Given the description of an element on the screen output the (x, y) to click on. 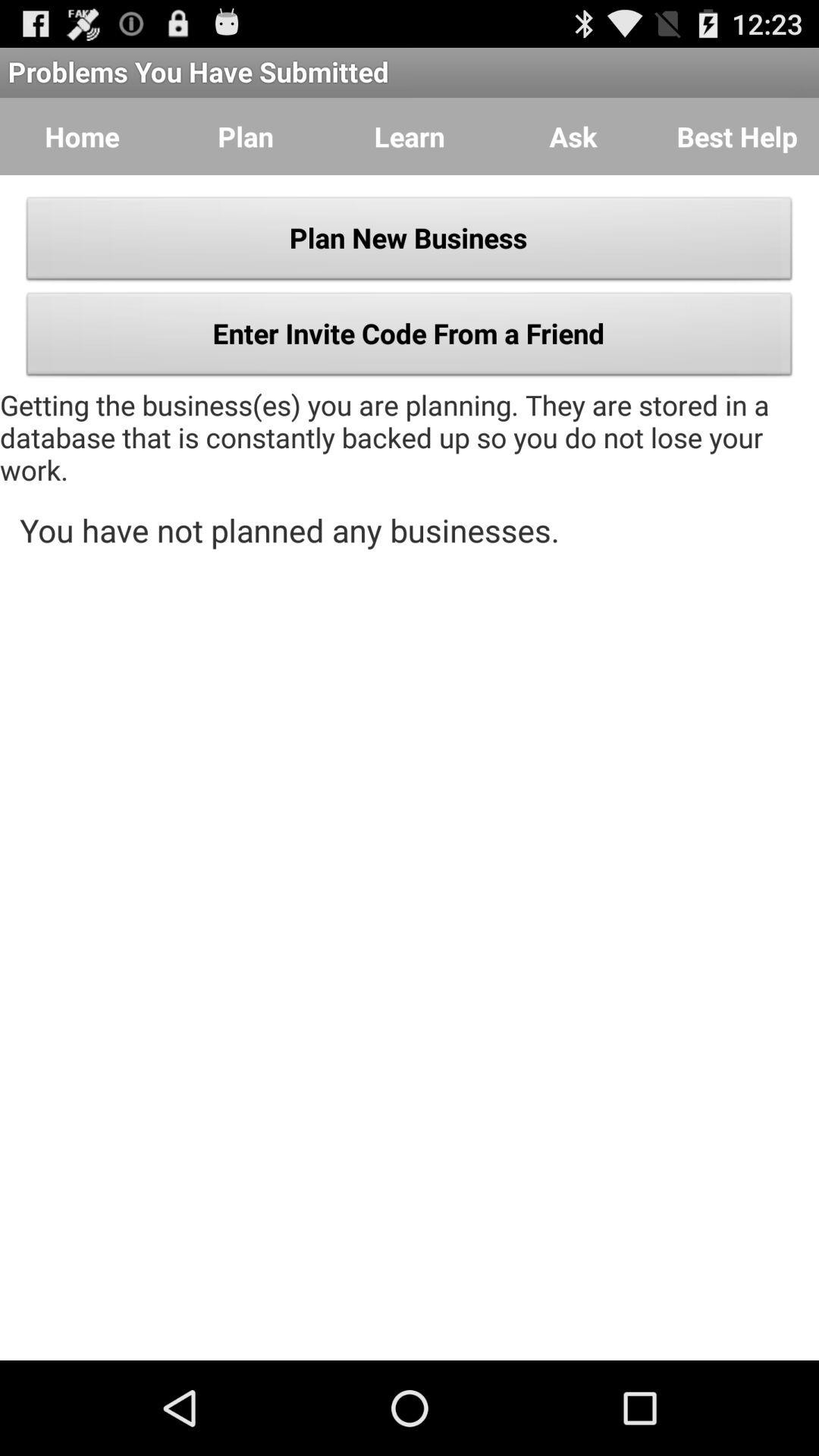
select the icon below problems you have icon (81, 136)
